Given the description of an element on the screen output the (x, y) to click on. 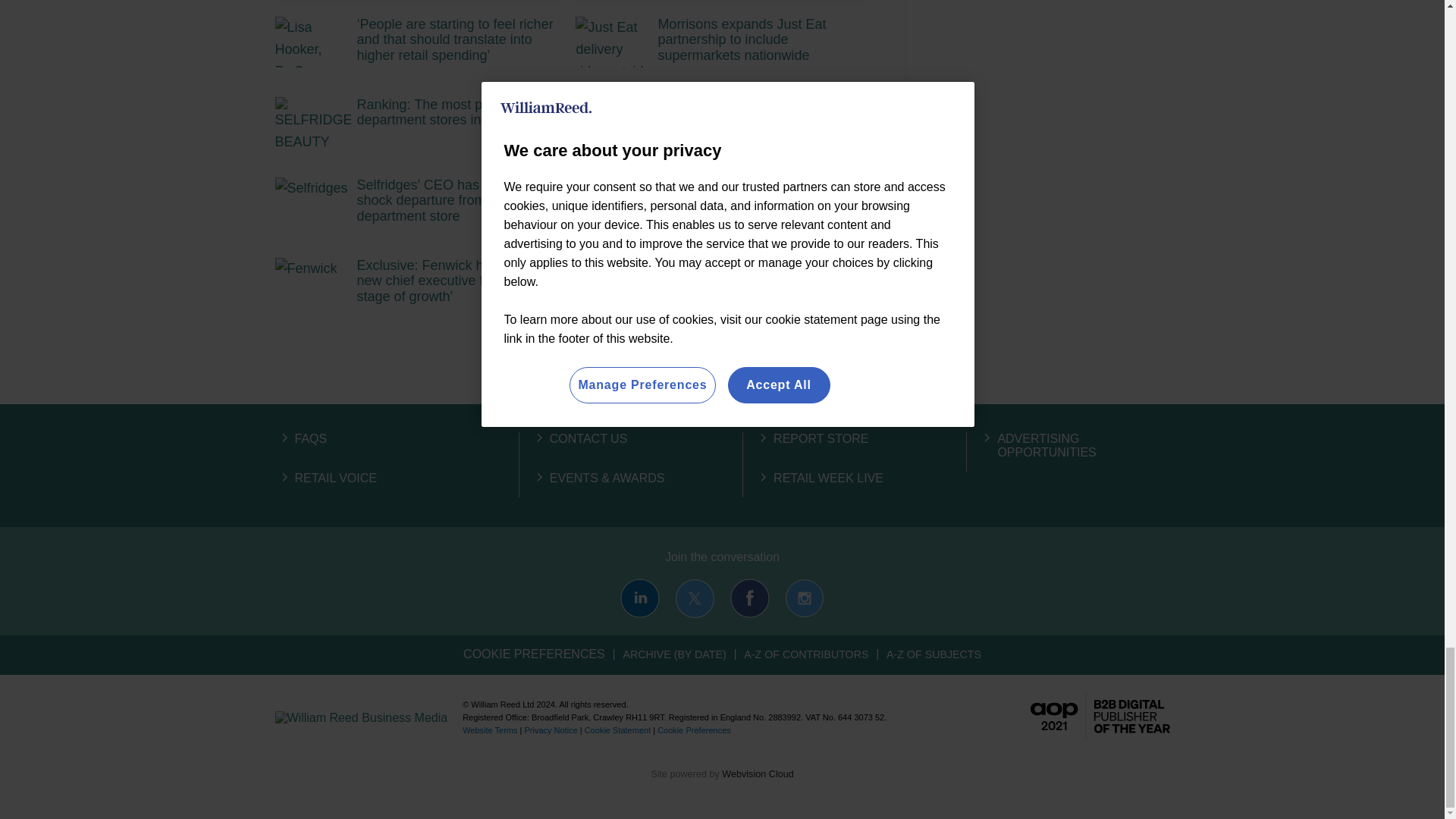
Connect with us on LinkedIn (639, 598)
Connect with us on Facebook (750, 598)
Connect with us on X (694, 598)
Connect with us on Instagram (804, 598)
